Given the description of an element on the screen output the (x, y) to click on. 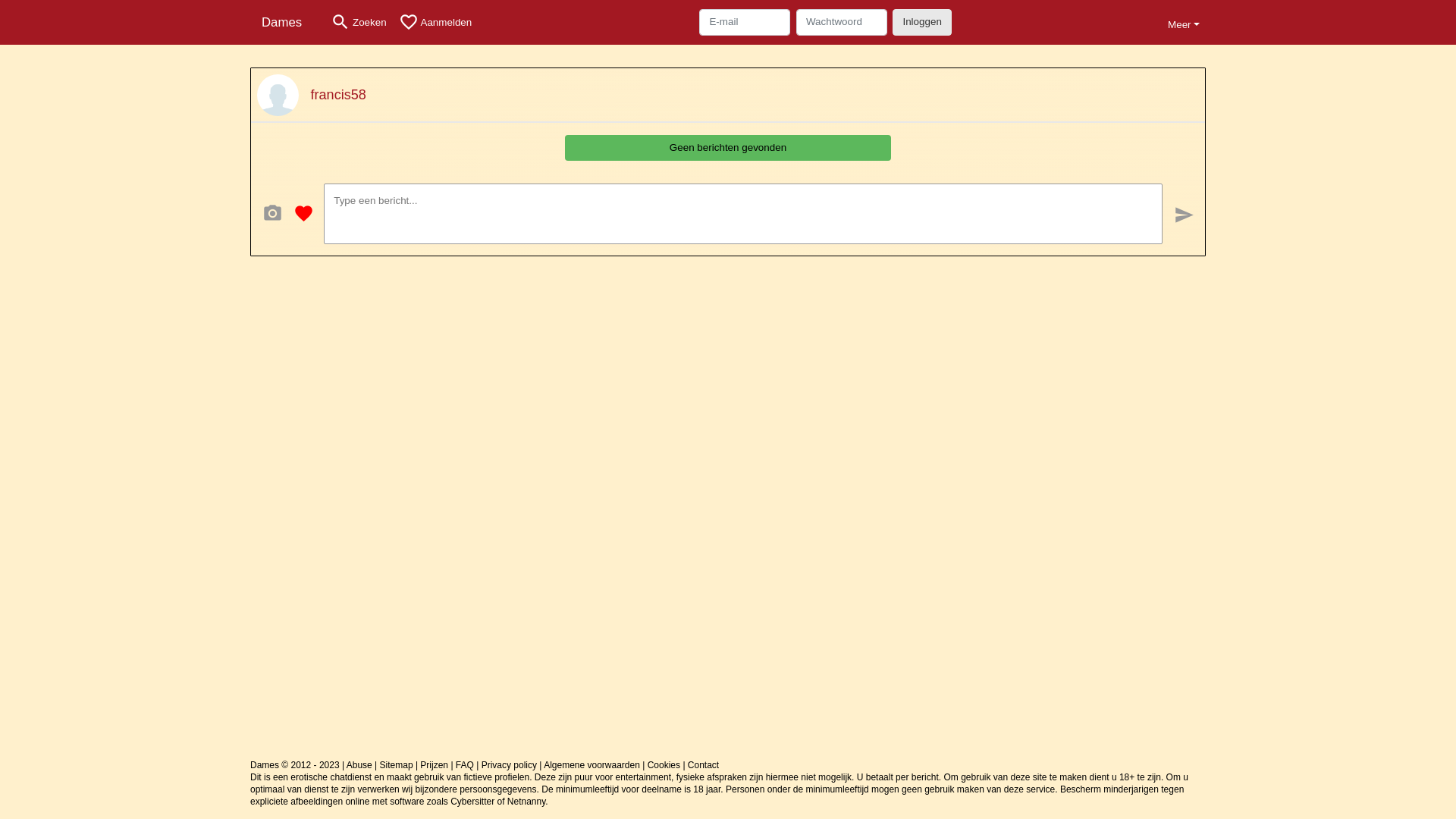
Meer Element type: text (1183, 22)
Privacy policy Element type: text (508, 764)
Sitemap Element type: text (396, 764)
favorite_border
Aanmelden Element type: text (435, 22)
search
Zoeken Element type: text (358, 22)
Contact Element type: text (702, 764)
Cookies Element type: text (663, 764)
send Element type: text (1188, 213)
FAQ Element type: text (464, 764)
Dames Element type: text (287, 22)
Inloggen Element type: text (921, 21)
Abuse Element type: text (359, 764)
Algemene voorwaarden Element type: text (591, 764)
Prijzen Element type: text (434, 764)
francis58 Element type: text (338, 91)
